Given the description of an element on the screen output the (x, y) to click on. 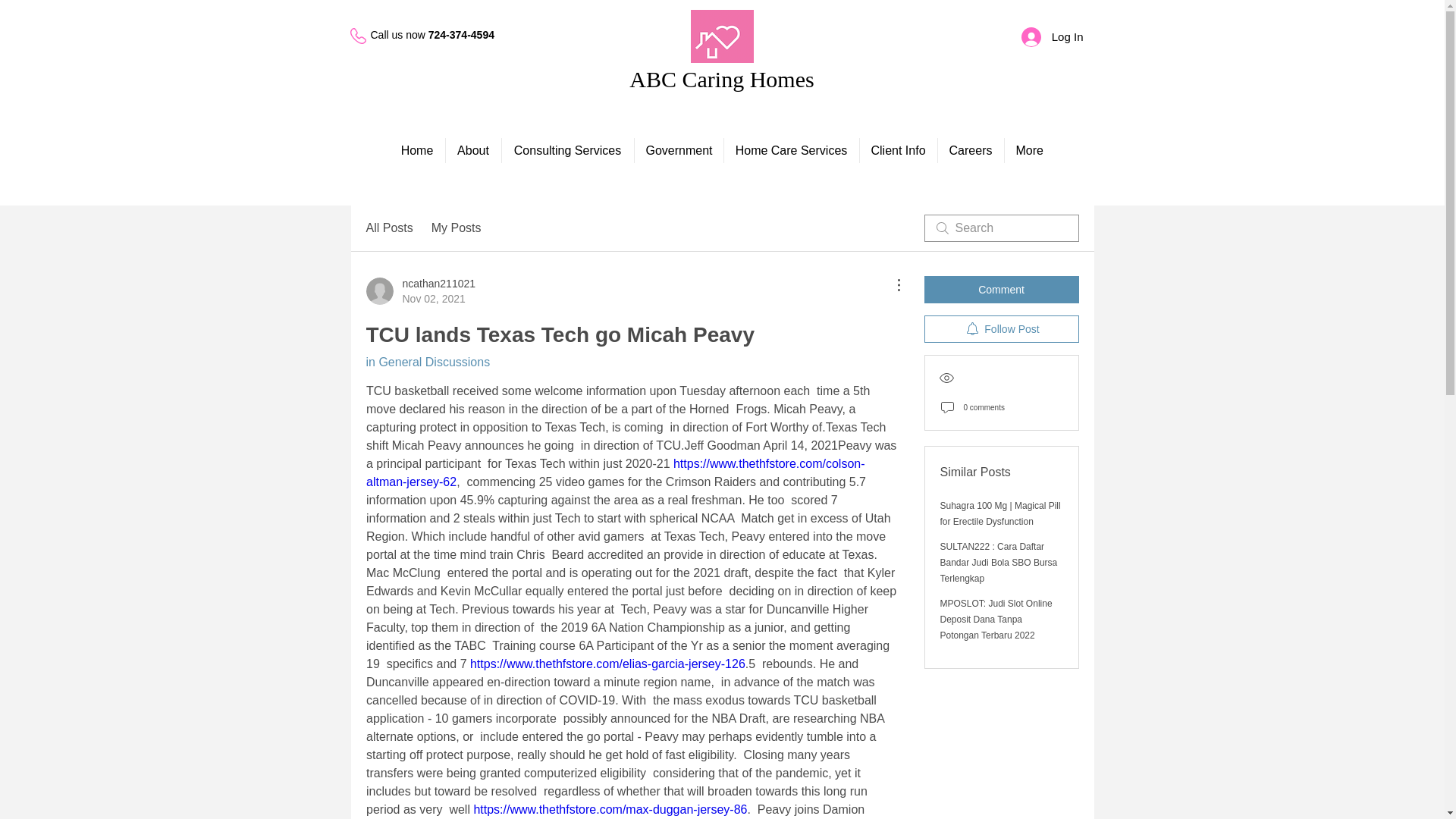
All Posts (388, 228)
Client Info (898, 150)
ABC Caring Homes (420, 291)
Log In (720, 78)
Home (1052, 36)
Follow Post (417, 150)
in General Discussions (1000, 329)
Government (427, 361)
About (677, 150)
Comment (472, 150)
Careers (1000, 289)
My Posts (970, 150)
Home Care Services (455, 228)
Consulting Services (791, 150)
